Given the description of an element on the screen output the (x, y) to click on. 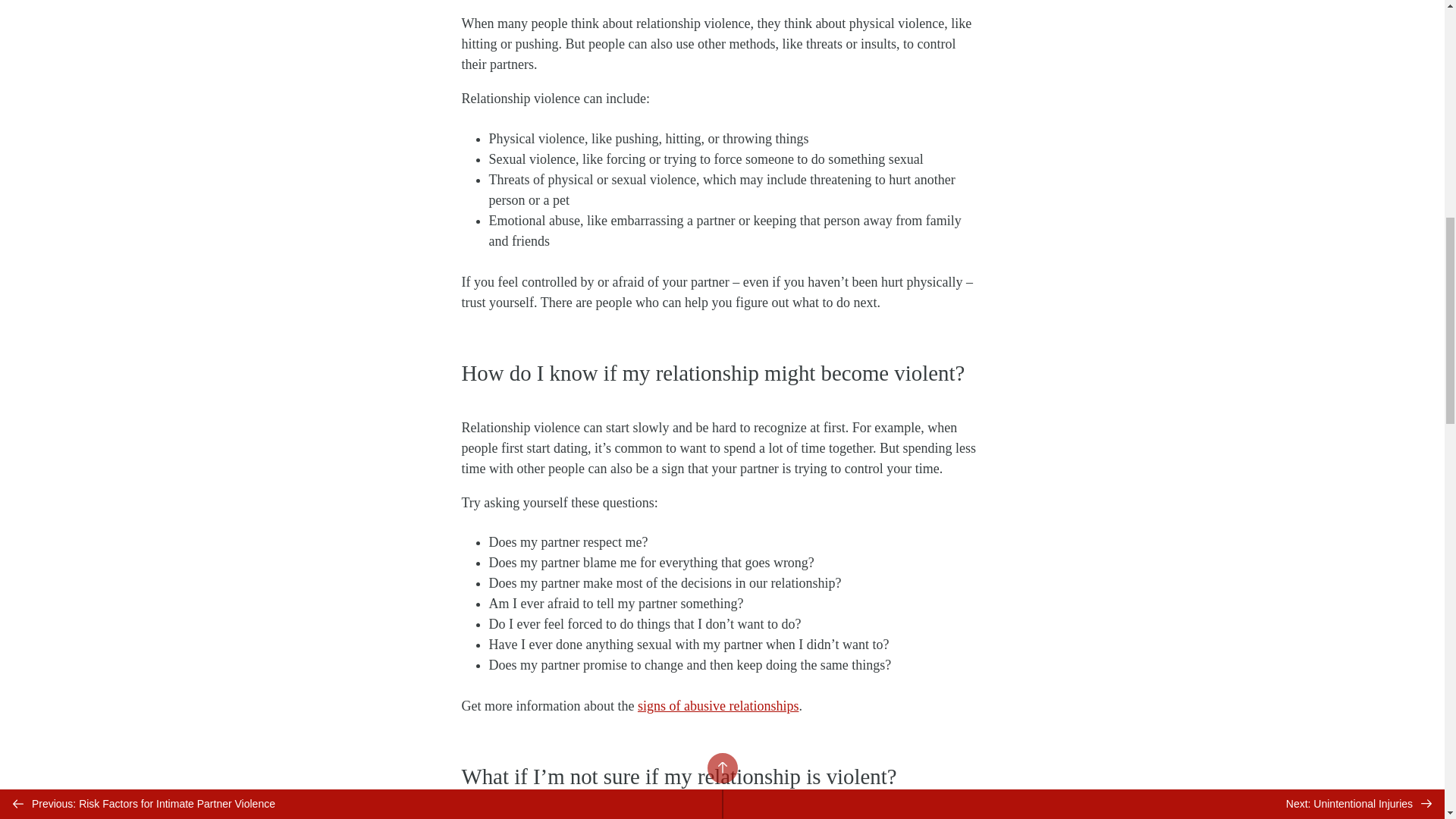
signs of abusive relationships (717, 705)
